Given the description of an element on the screen output the (x, y) to click on. 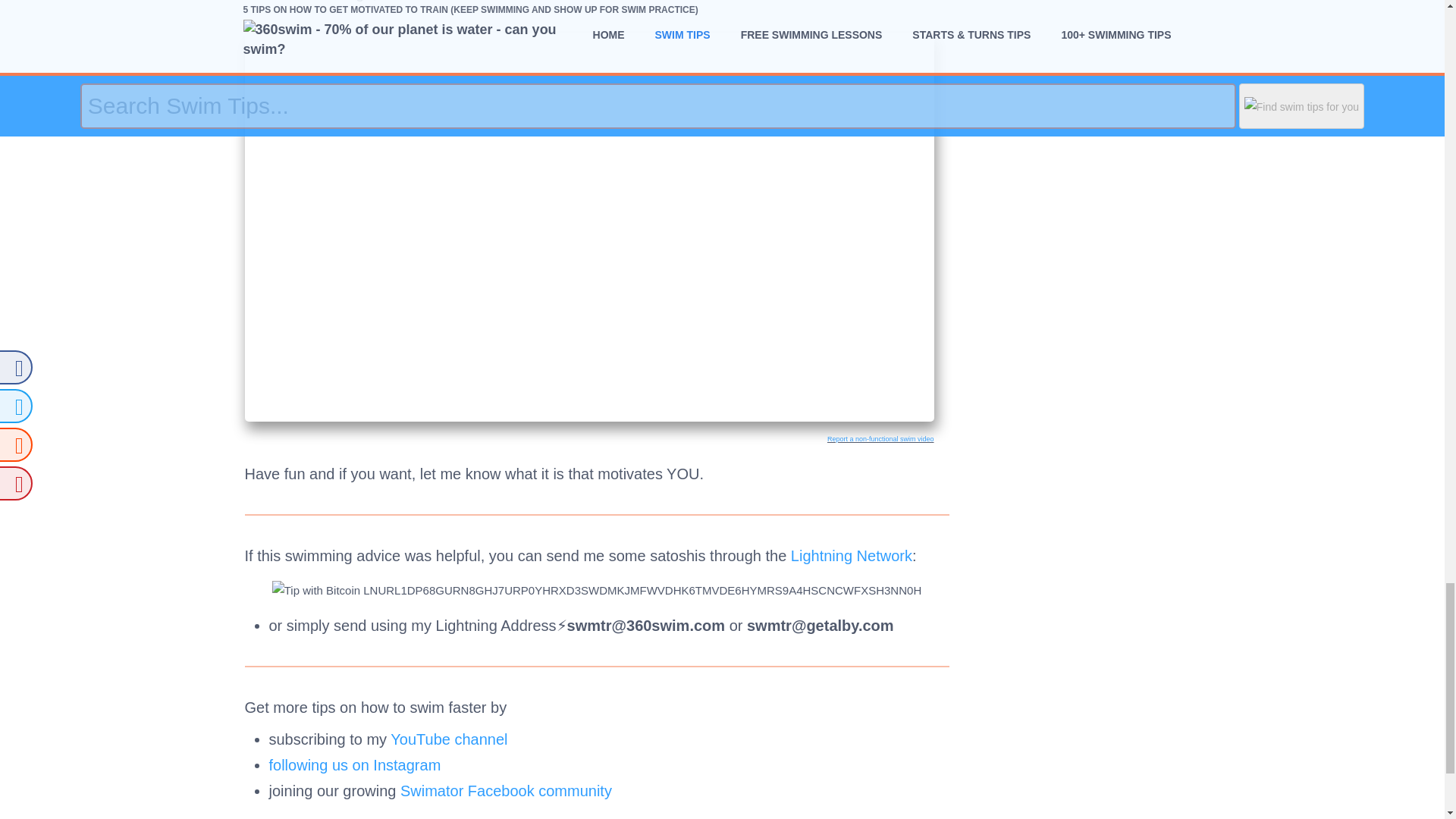
Lightning Network (851, 555)
Report a non-functional swim video (880, 438)
Swimator Facebook community (505, 790)
YouTube channel (448, 739)
following us on Instagram (354, 764)
Report a non-functional swim video (880, 438)
